Given the description of an element on the screen output the (x, y) to click on. 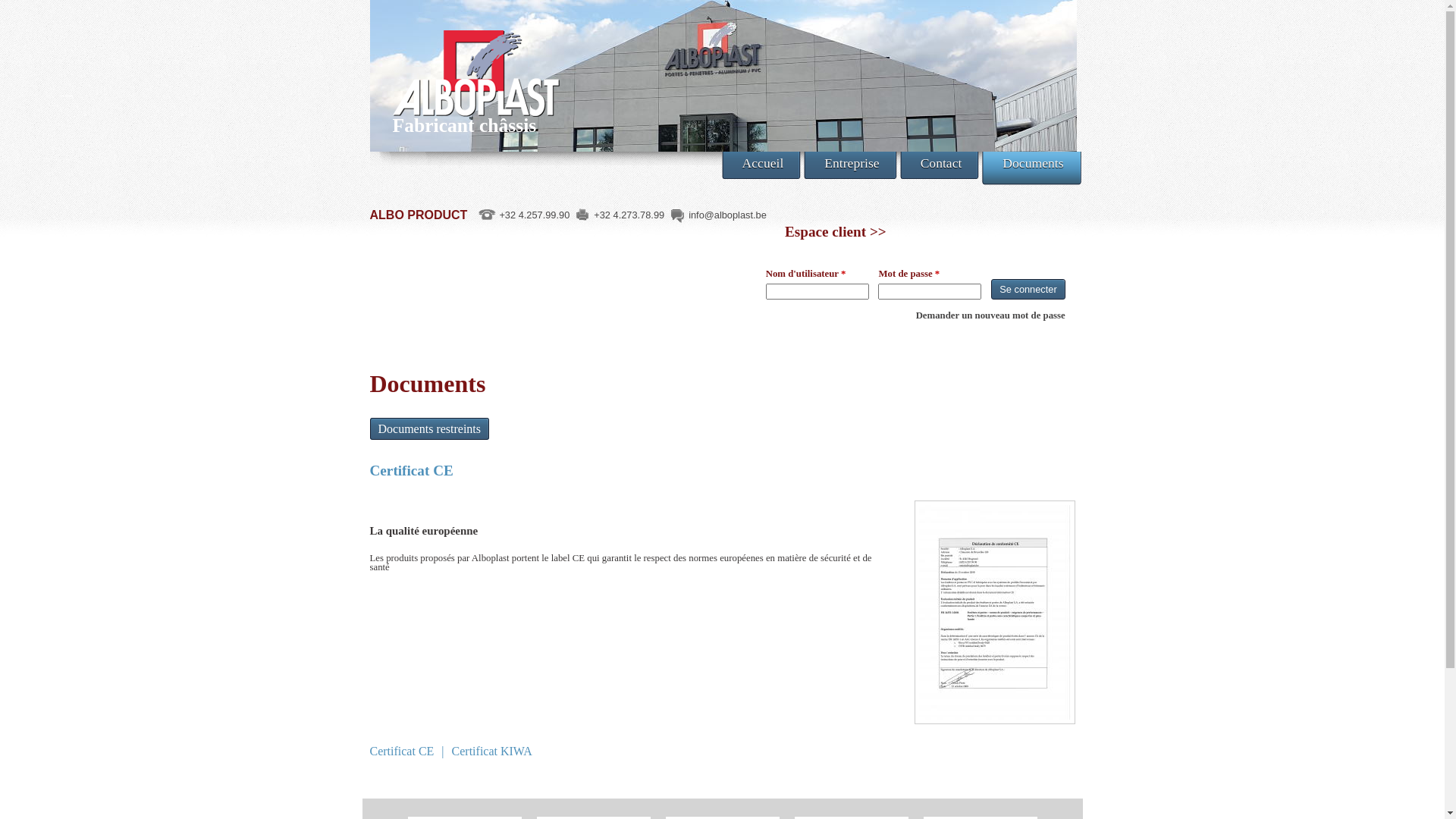
Accueil Element type: hover (465, 58)
info@alboplast.be Element type: text (727, 214)
Demander un nouveau mot de passe Element type: text (990, 315)
Contact Element type: text (941, 164)
Accueil Element type: text (762, 164)
Se connecter Element type: text (1027, 289)
Certificat KIWA Element type: text (491, 750)
Entreprise Element type: text (851, 164)
Documents Element type: text (1032, 168)
Documents restreints Element type: text (429, 428)
Certificat CE Element type: text (402, 750)
Jump to navigation Element type: text (722, 2)
